Given the description of an element on the screen output the (x, y) to click on. 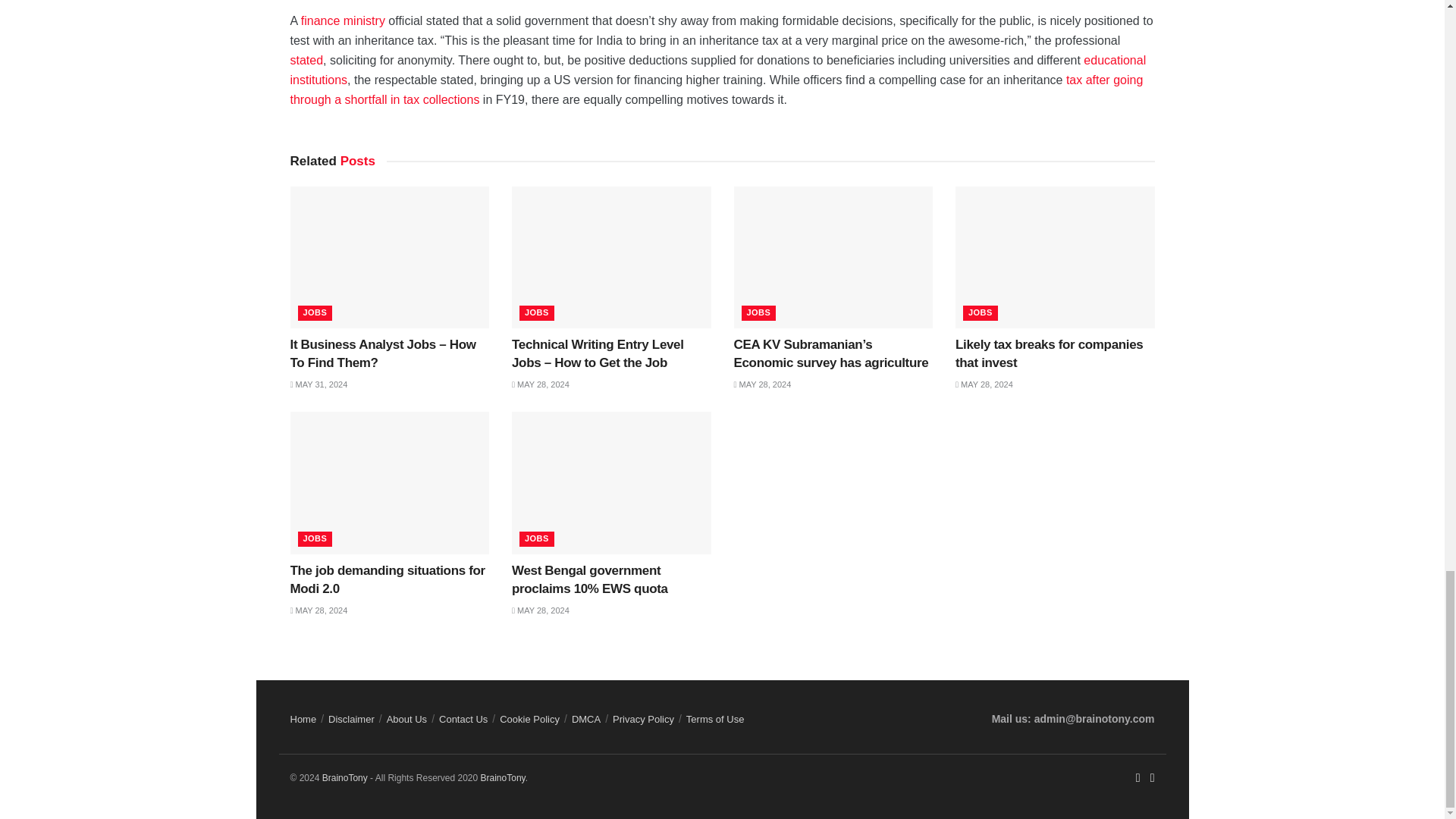
BrainoTony (502, 777)
